Given the description of an element on the screen output the (x, y) to click on. 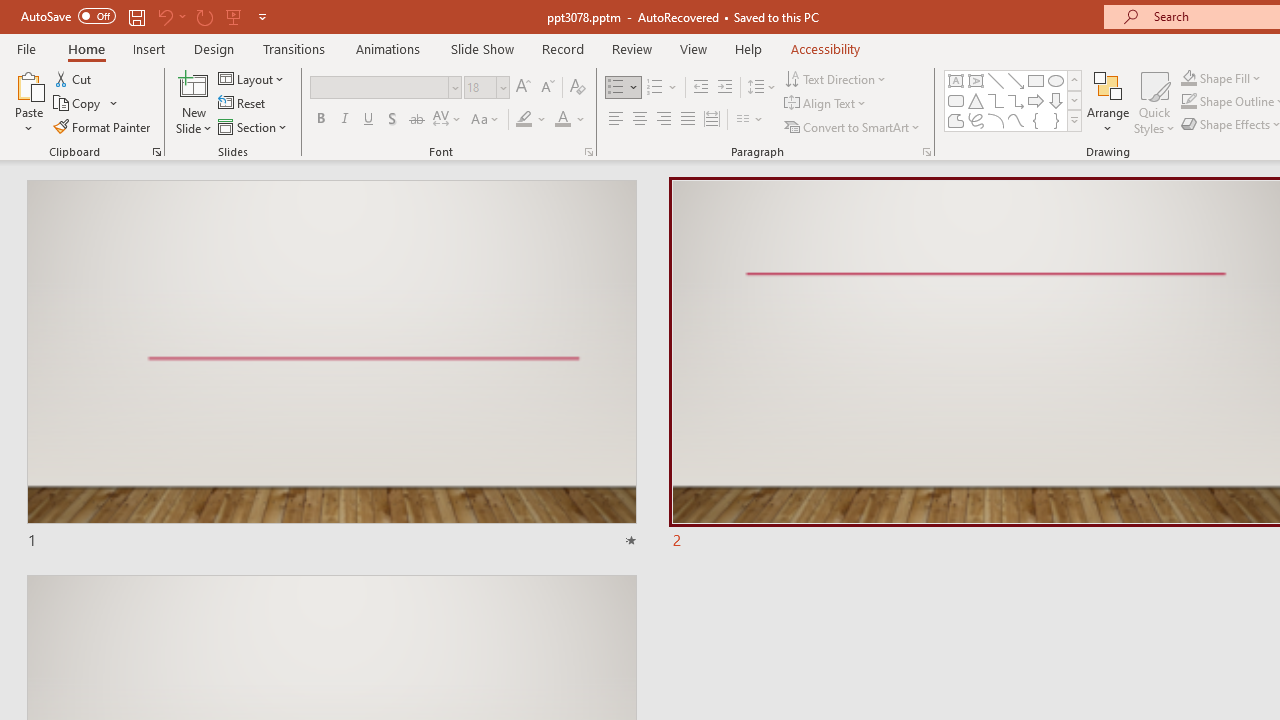
Insert (149, 48)
Arrow: Down (1055, 100)
Copy (85, 103)
Paragraph... (926, 151)
Arc (995, 120)
Save (136, 15)
Align Right (663, 119)
Customize Quick Access Toolbar (262, 15)
AutoSave (68, 16)
Curve (1016, 120)
Left Brace (1035, 120)
More Options (1232, 78)
Class: NetUIImage (1075, 120)
Change Case (486, 119)
Line Arrow (1016, 80)
